Given the description of an element on the screen output the (x, y) to click on. 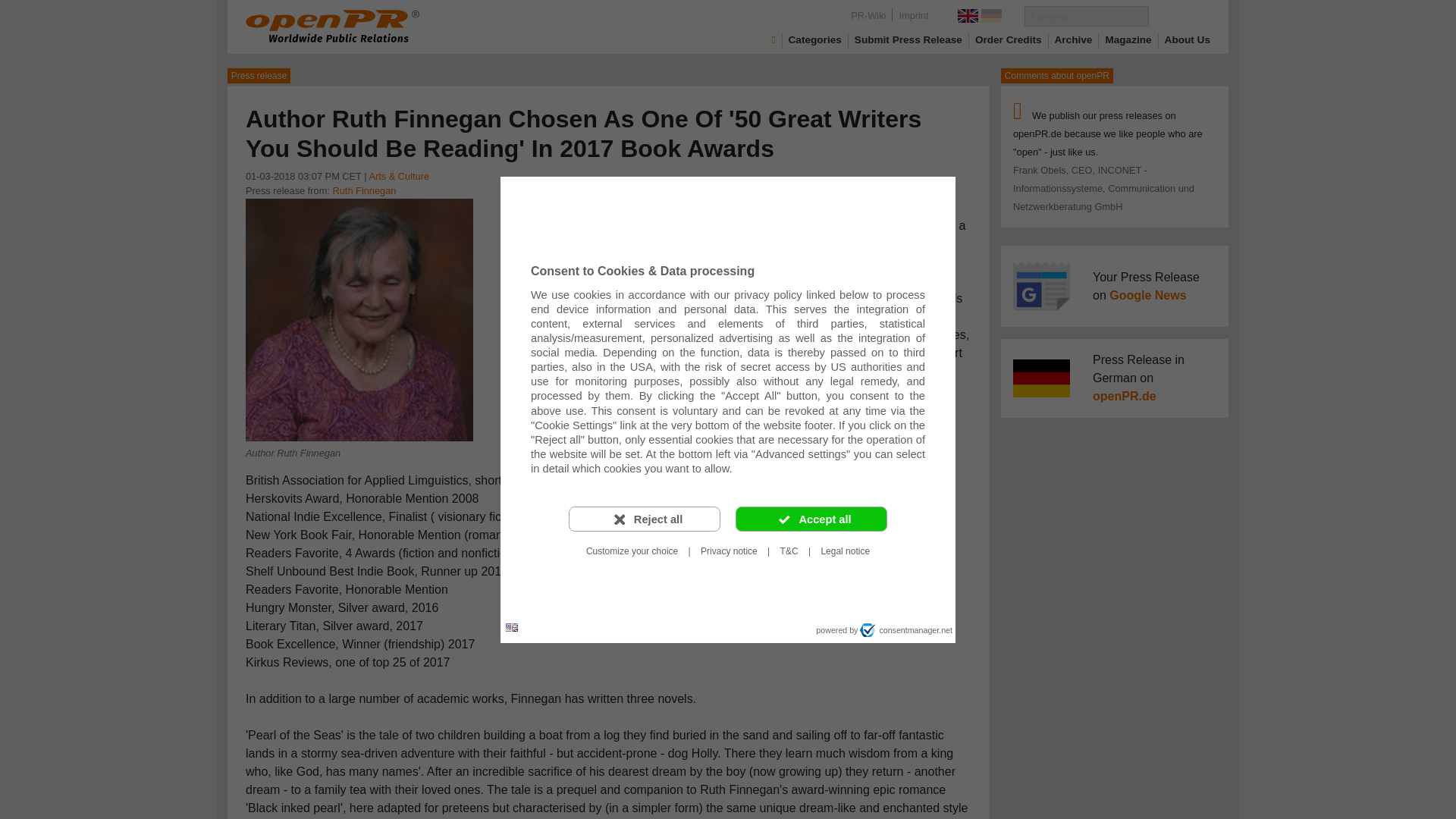
Privacy notice (729, 550)
Submit Press Release (908, 39)
Language: en (511, 627)
Search   (1178, 15)
Archive (1073, 39)
archive und pressrelease of Ruth Finnegan (363, 190)
Imprint (913, 15)
Legal notice (844, 550)
consentmanager.net (906, 630)
Order Credits (1008, 39)
Customize your choice (631, 550)
PR-Wiki (867, 15)
Magazine (1128, 39)
Accept all (810, 518)
Language: en (511, 627)
